Given the description of an element on the screen output the (x, y) to click on. 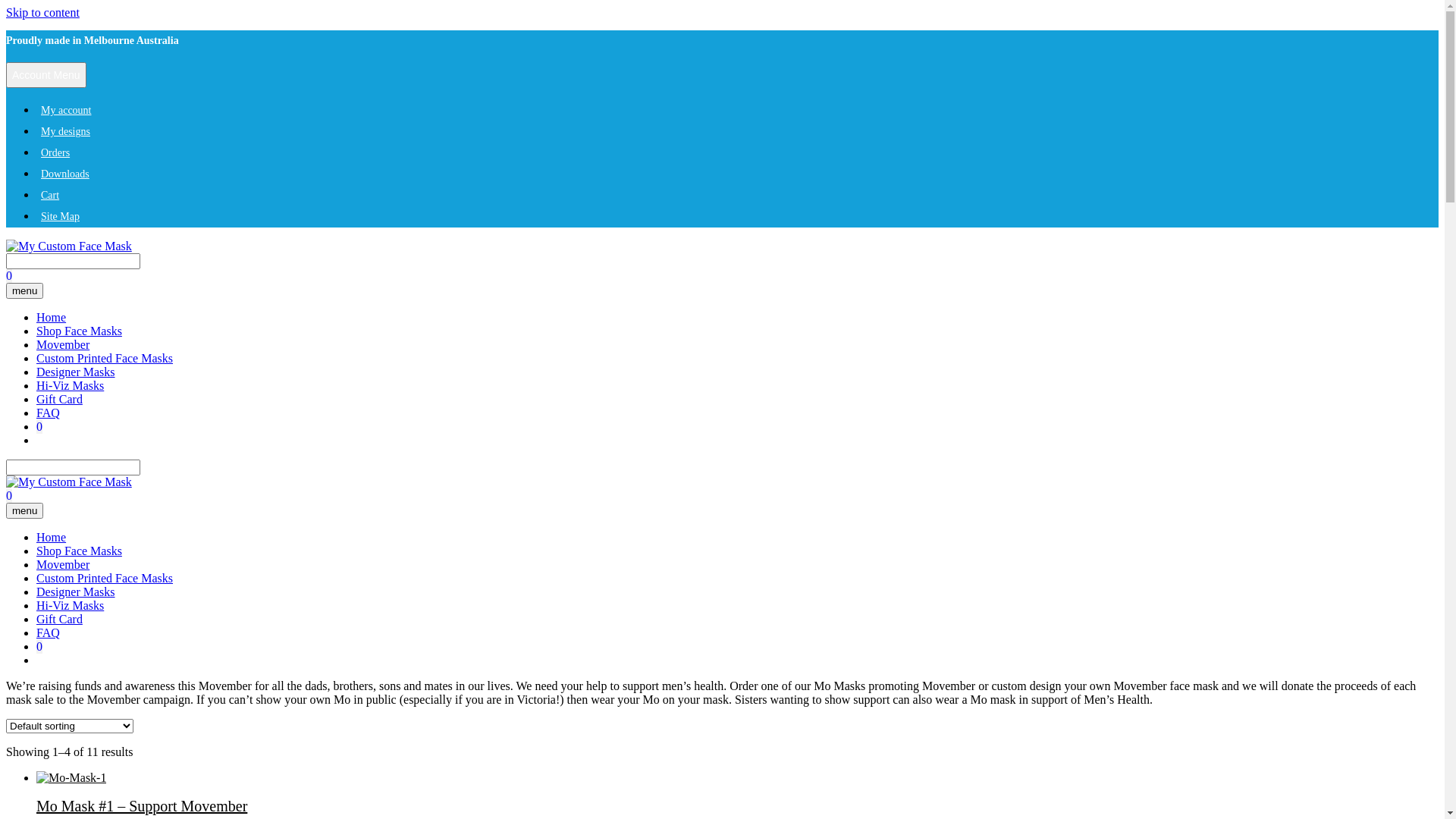
Home Element type: text (50, 536)
Designer Masks Element type: text (75, 371)
FAQ Element type: text (47, 412)
Account Menu Element type: text (46, 74)
Gift Card Element type: text (59, 398)
Shop Face Masks Element type: text (79, 550)
My account Element type: text (65, 110)
My Custom Face Mask Element type: hover (68, 481)
Movember Element type: text (62, 564)
My Custom Face Mask Element type: hover (68, 246)
Cart Element type: text (49, 194)
Movember Element type: text (62, 344)
Skip to content Element type: text (42, 12)
Shop Face Masks Element type: text (79, 330)
0 Element type: text (9, 495)
Orders Element type: text (55, 152)
Search Element type: hover (73, 261)
FAQ Element type: text (47, 632)
Designer Masks Element type: text (75, 591)
0 Element type: text (9, 275)
Custom Printed Face Masks Element type: text (104, 577)
0 Element type: text (39, 426)
menu Element type: text (24, 290)
Custom Printed Face Masks Element type: text (104, 357)
menu Element type: text (24, 510)
My Custom Face Mask Element type: hover (68, 245)
Site Map Element type: text (60, 216)
0 Element type: text (39, 646)
Hi-Viz Masks Element type: text (69, 385)
Search Element type: hover (73, 467)
Home Element type: text (50, 316)
Gift Card Element type: text (59, 618)
Hi-Viz Masks Element type: text (69, 605)
My designs Element type: text (65, 131)
Downloads Element type: text (65, 173)
